Given the description of an element on the screen output the (x, y) to click on. 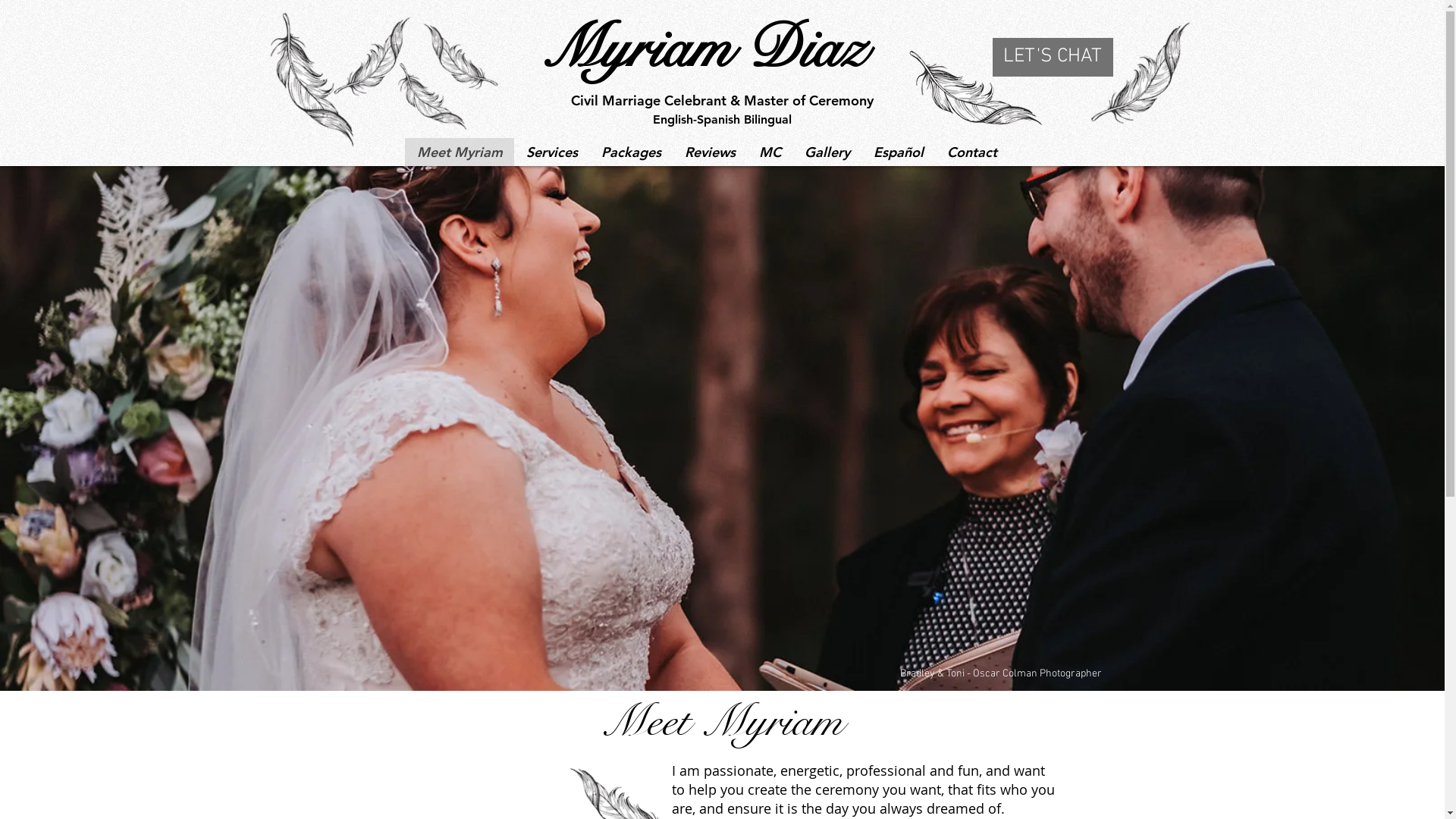
Myriam Diaz Element type: text (702, 48)
Reviews Element type: text (708, 152)
MC Element type: text (768, 152)
Meet Myriam Element type: text (459, 152)
Packages Element type: text (629, 152)
Services Element type: text (551, 152)
Contact Element type: text (970, 152)
LET'S CHAT Element type: text (1051, 56)
Bradley & Toni - Oscar Colman Photographer Element type: text (1000, 673)
Gallery Element type: text (825, 152)
